Given the description of an element on the screen output the (x, y) to click on. 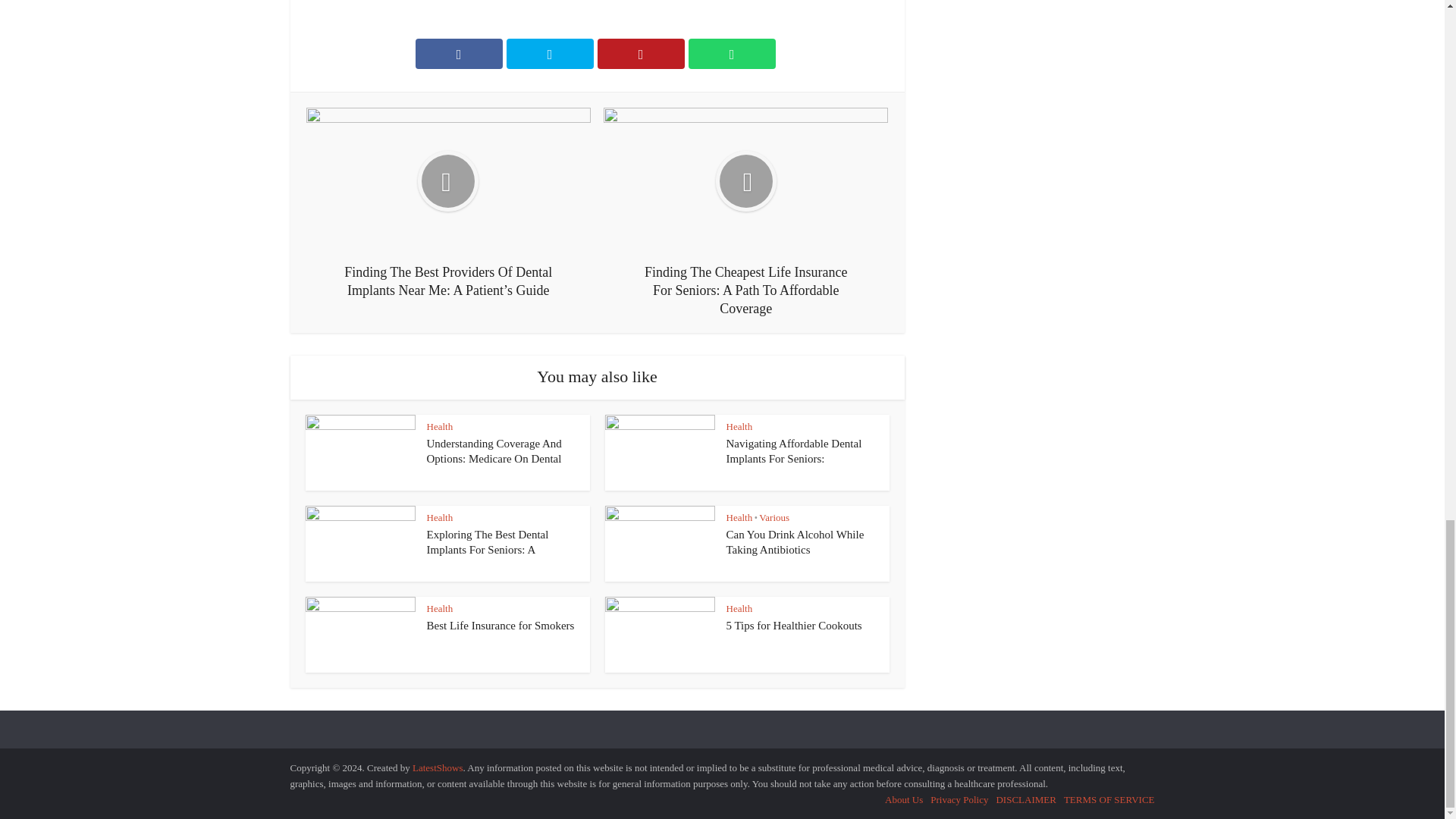
Understanding Coverage And Options: Medicare On Dental (493, 451)
Health (439, 426)
Can You Drink Alcohol While Taking Antibiotics (795, 542)
5 Tips for Healthier Cookouts (793, 625)
Best Life Insurance for Smokers (499, 625)
Health (439, 517)
Exploring The Best Dental Implants For Seniors: A (487, 542)
Navigating Affordable Dental Implants For Seniors: (793, 451)
Health (739, 426)
